Given the description of an element on the screen output the (x, y) to click on. 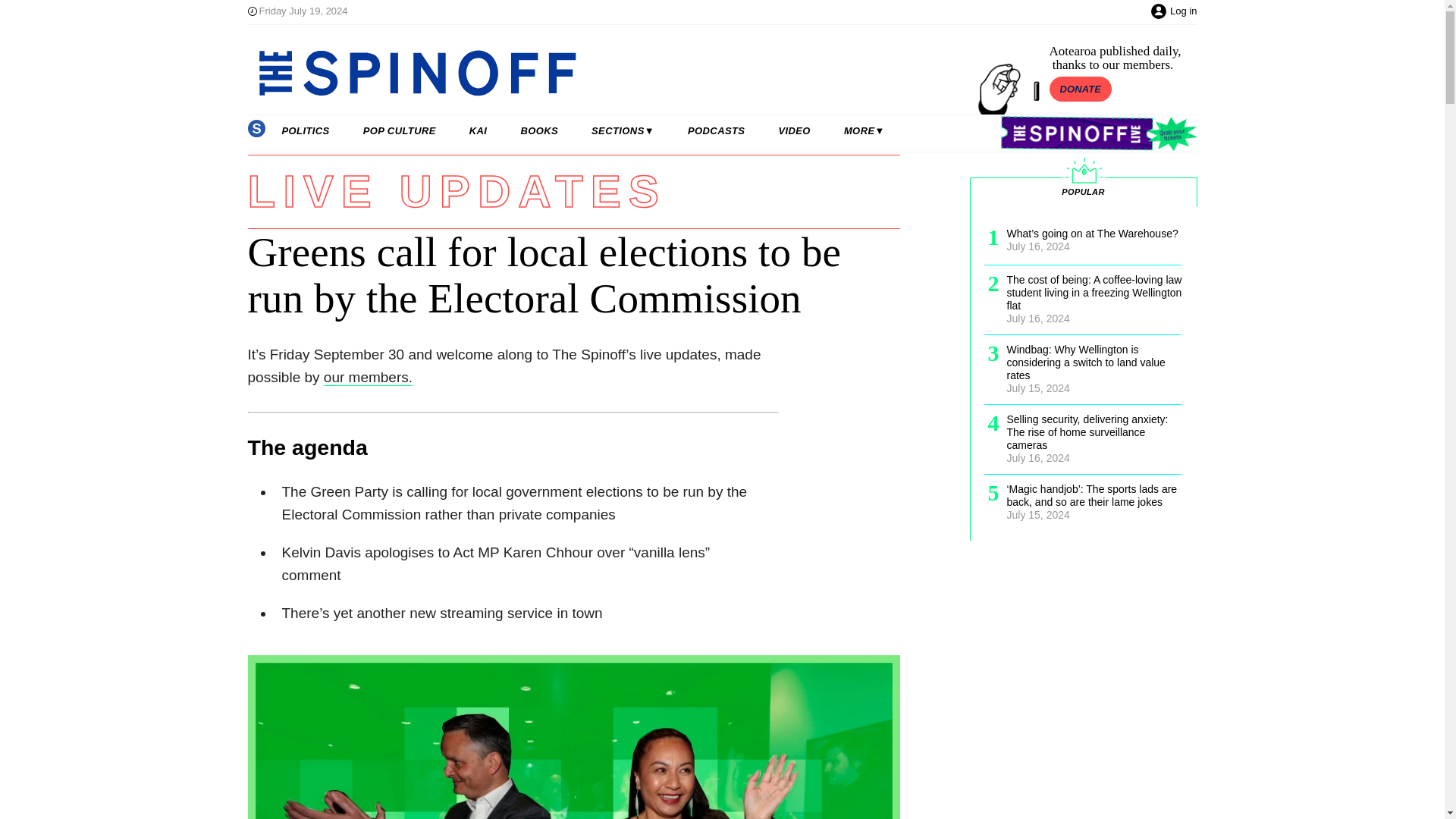
The Spinoff (608, 72)
POLITICS (305, 131)
MORE (864, 131)
POP CULTURE (399, 131)
SECTIONS (623, 131)
KAI (477, 131)
PODCASTS (716, 131)
VIDEO (794, 131)
Log in (1183, 11)
BOOKS (539, 131)
DONATE (1080, 88)
